Given the description of an element on the screen output the (x, y) to click on. 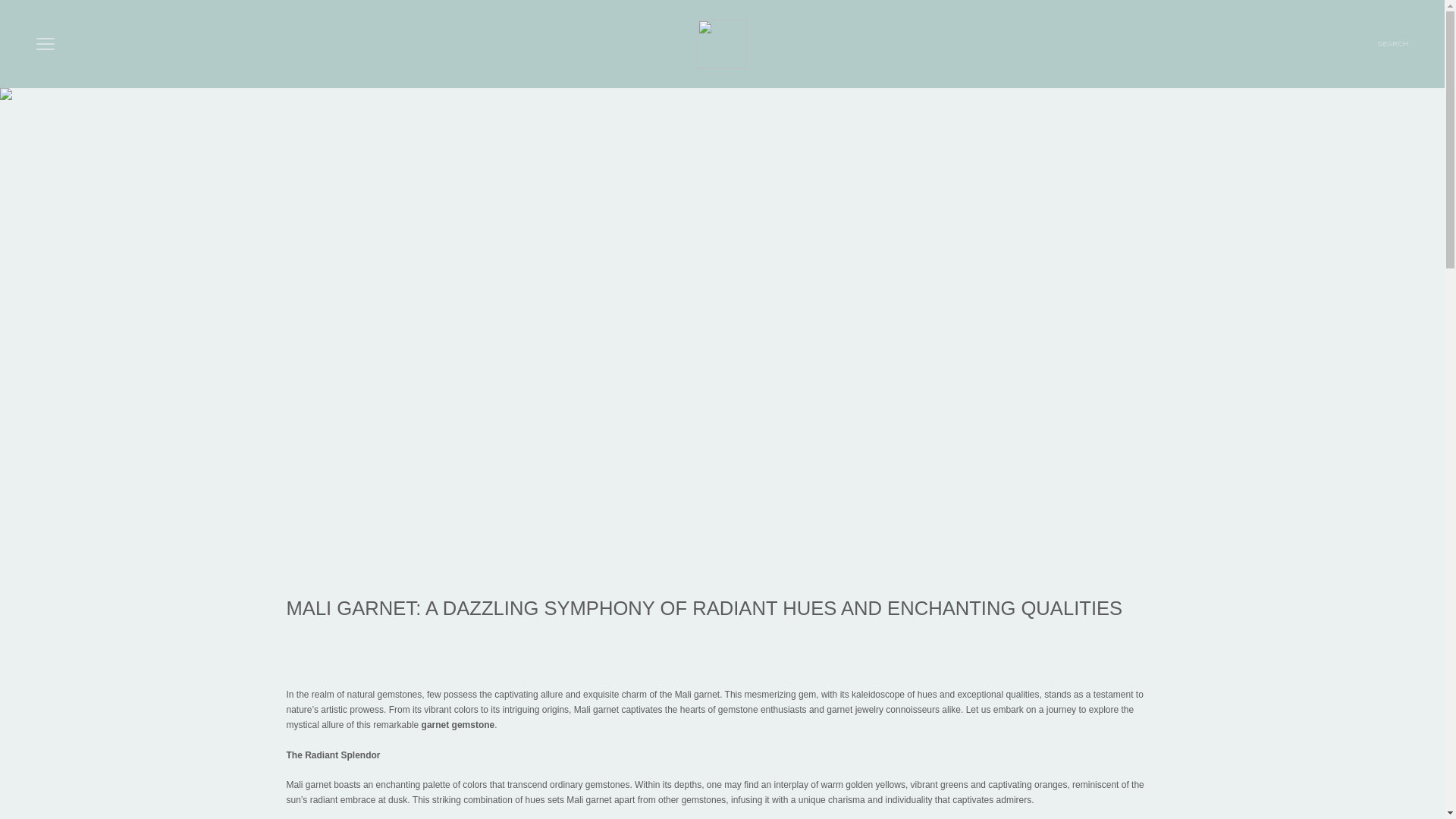
Open navigation menu (45, 44)
Jogani (1392, 43)
